Given the description of an element on the screen output the (x, y) to click on. 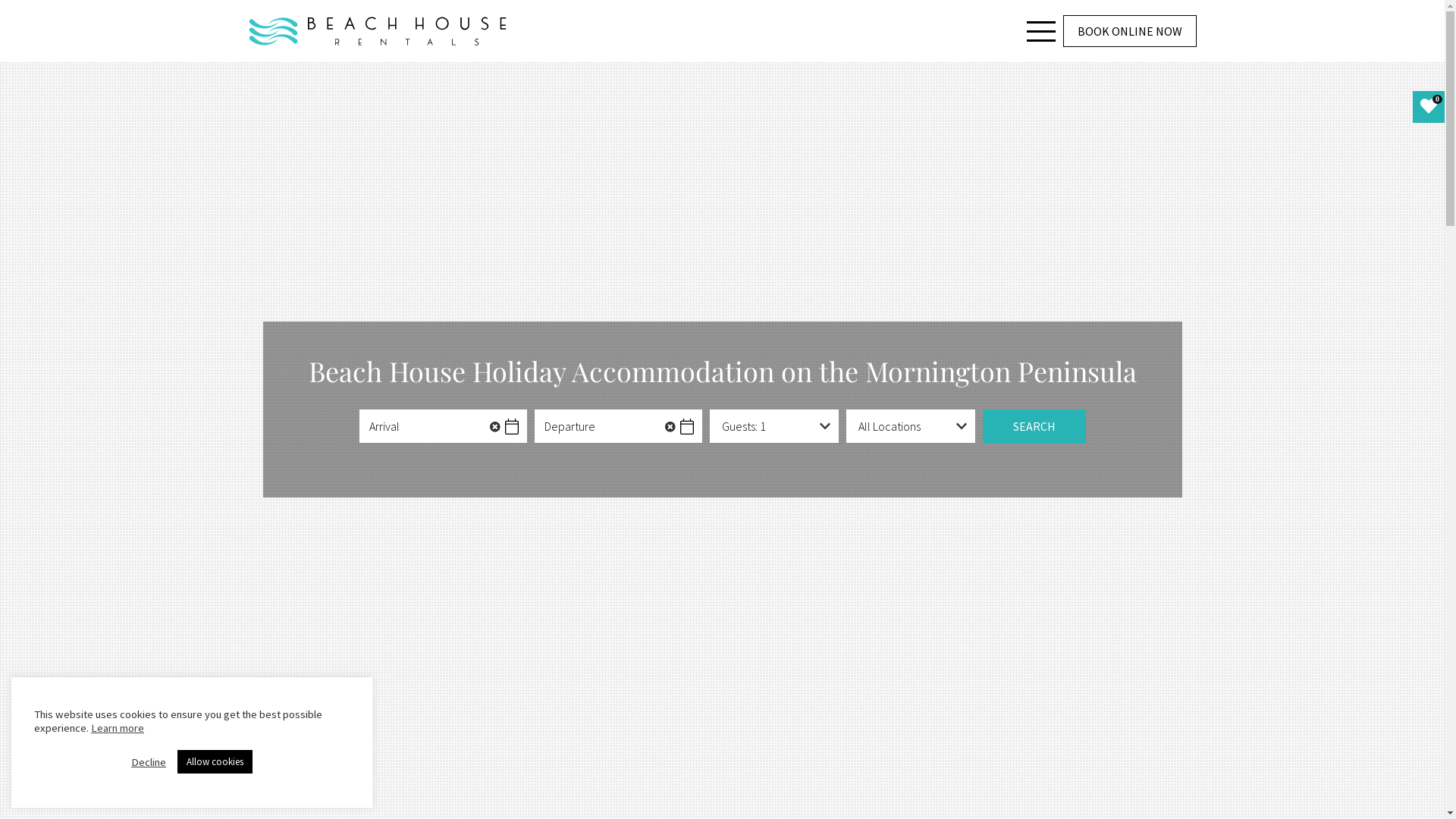
BOOK ONLINE NOW Element type: text (1129, 30)
Decline Element type: text (148, 761)
Learn more Element type: text (117, 727)
Allow cookies Element type: text (214, 761)
Search Element type: text (1033, 426)
